Given the description of an element on the screen output the (x, y) to click on. 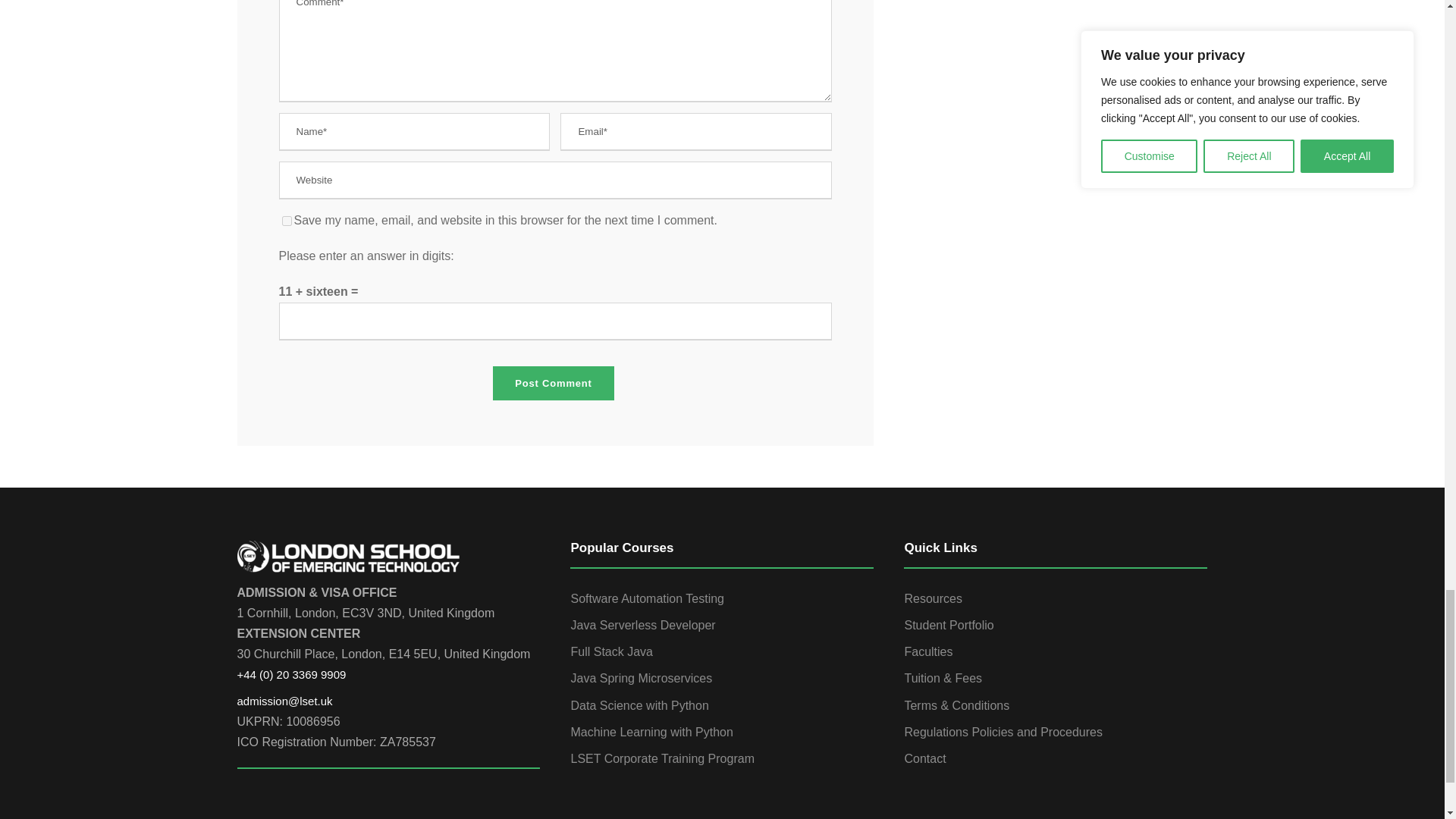
yes (287, 221)
Post Comment (552, 382)
